Given the description of an element on the screen output the (x, y) to click on. 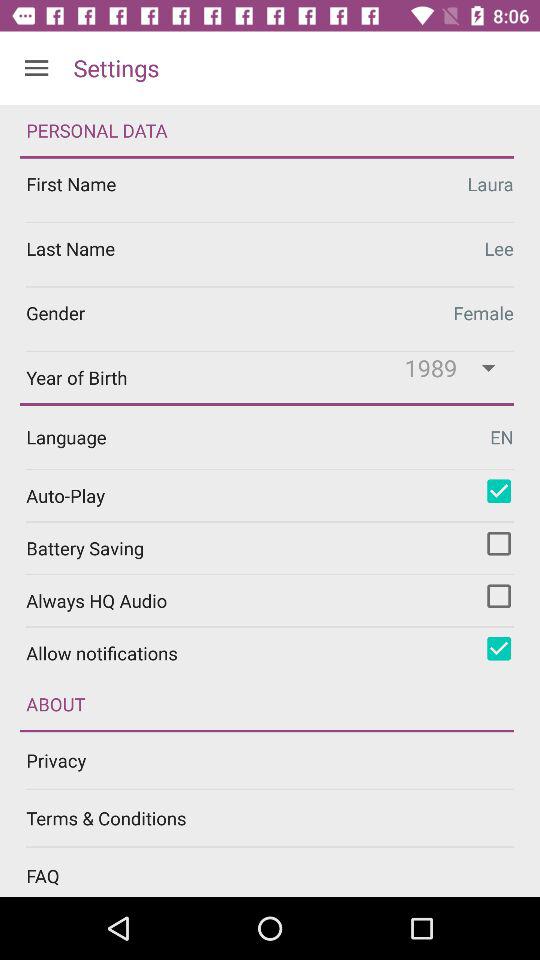
launch item to the left of the settings item (36, 68)
